Given the description of an element on the screen output the (x, y) to click on. 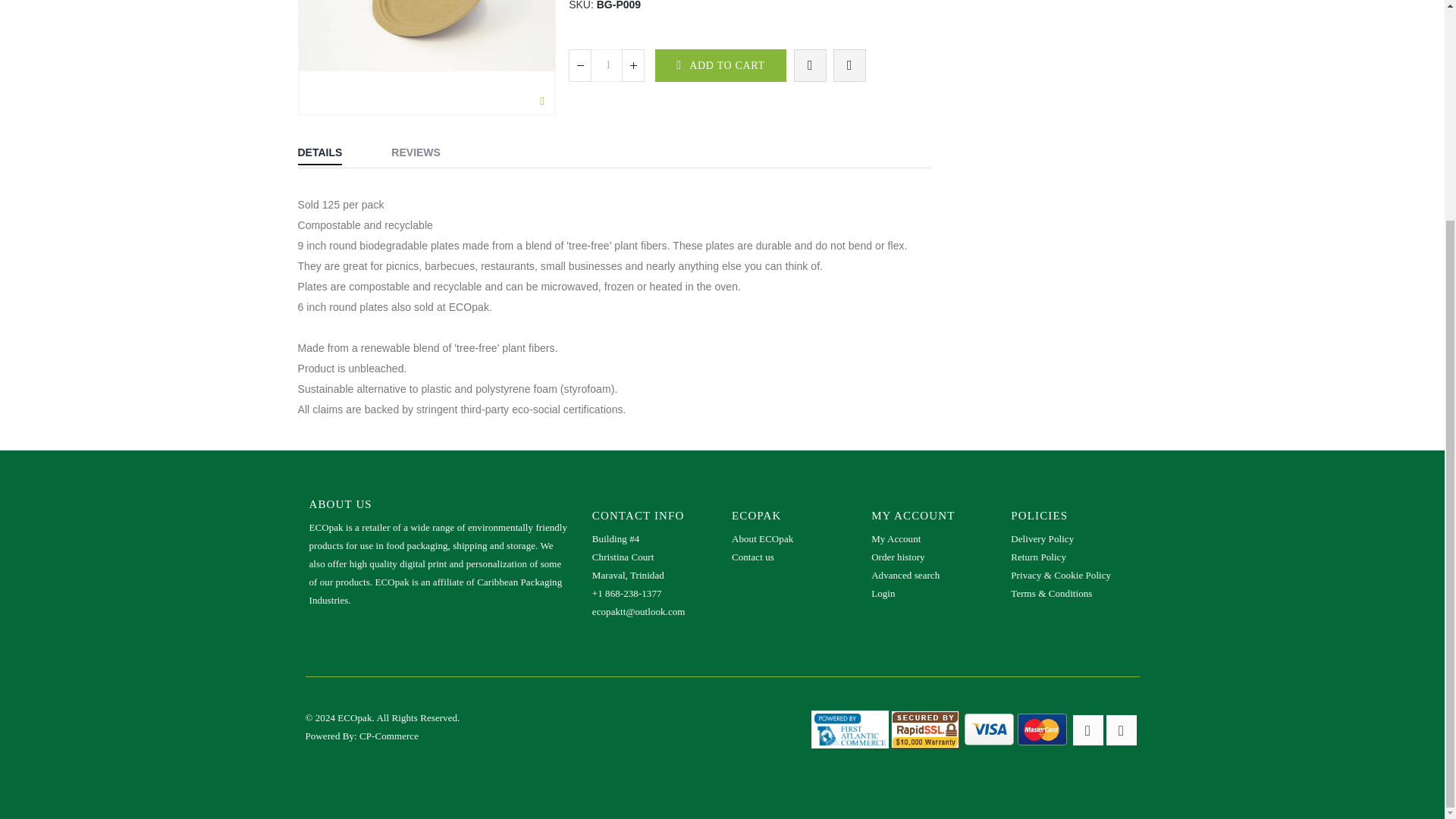
1 (607, 65)
